Given the description of an element on the screen output the (x, y) to click on. 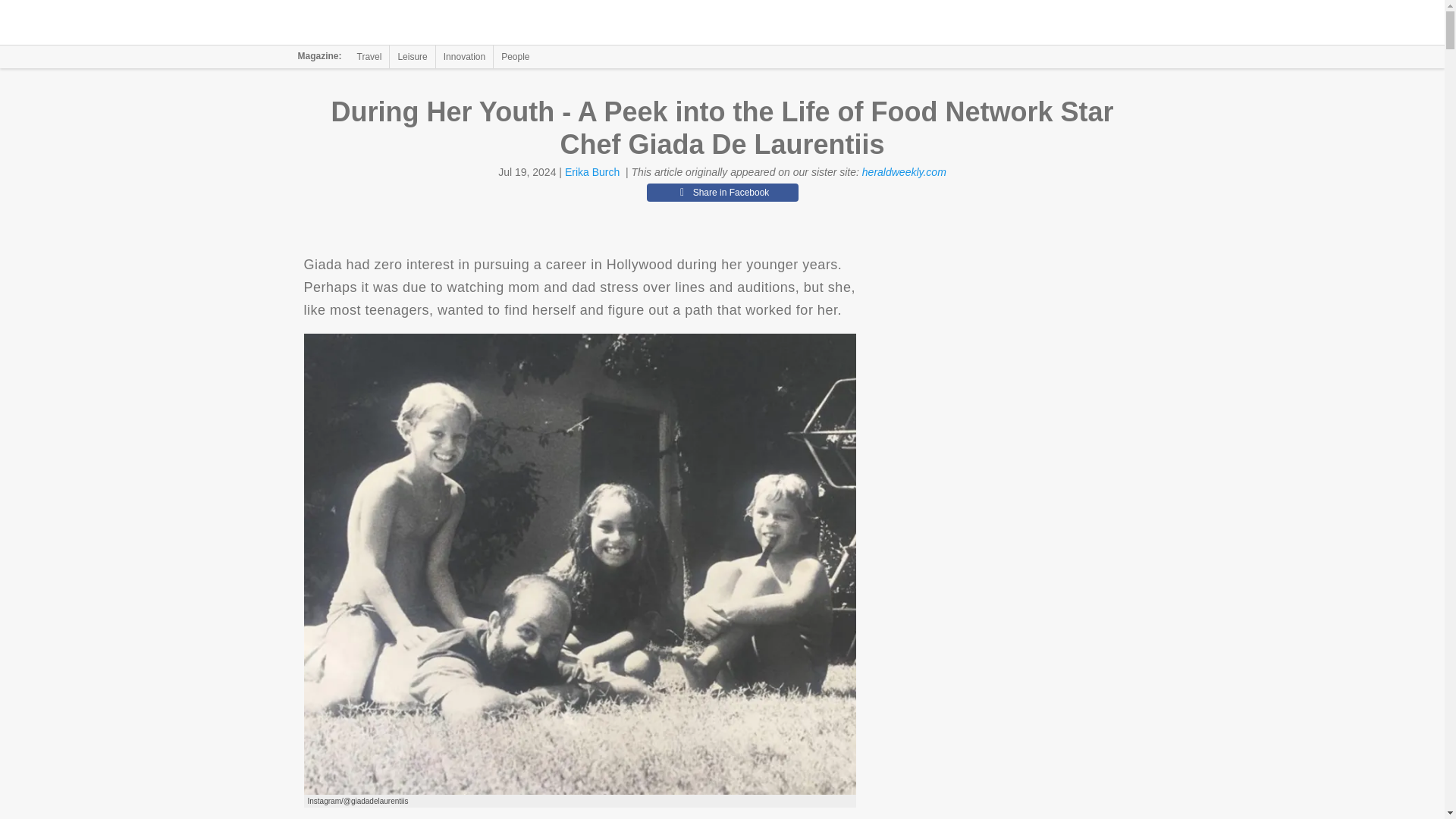
People (515, 56)
Leisure (411, 56)
Travel (369, 56)
Share in Facebook (721, 192)
Innovation (464, 56)
The Jerusalem Post Magazine (391, 22)
Erika Burch (592, 172)
heraldweekly.com (903, 172)
